Given the description of an element on the screen output the (x, y) to click on. 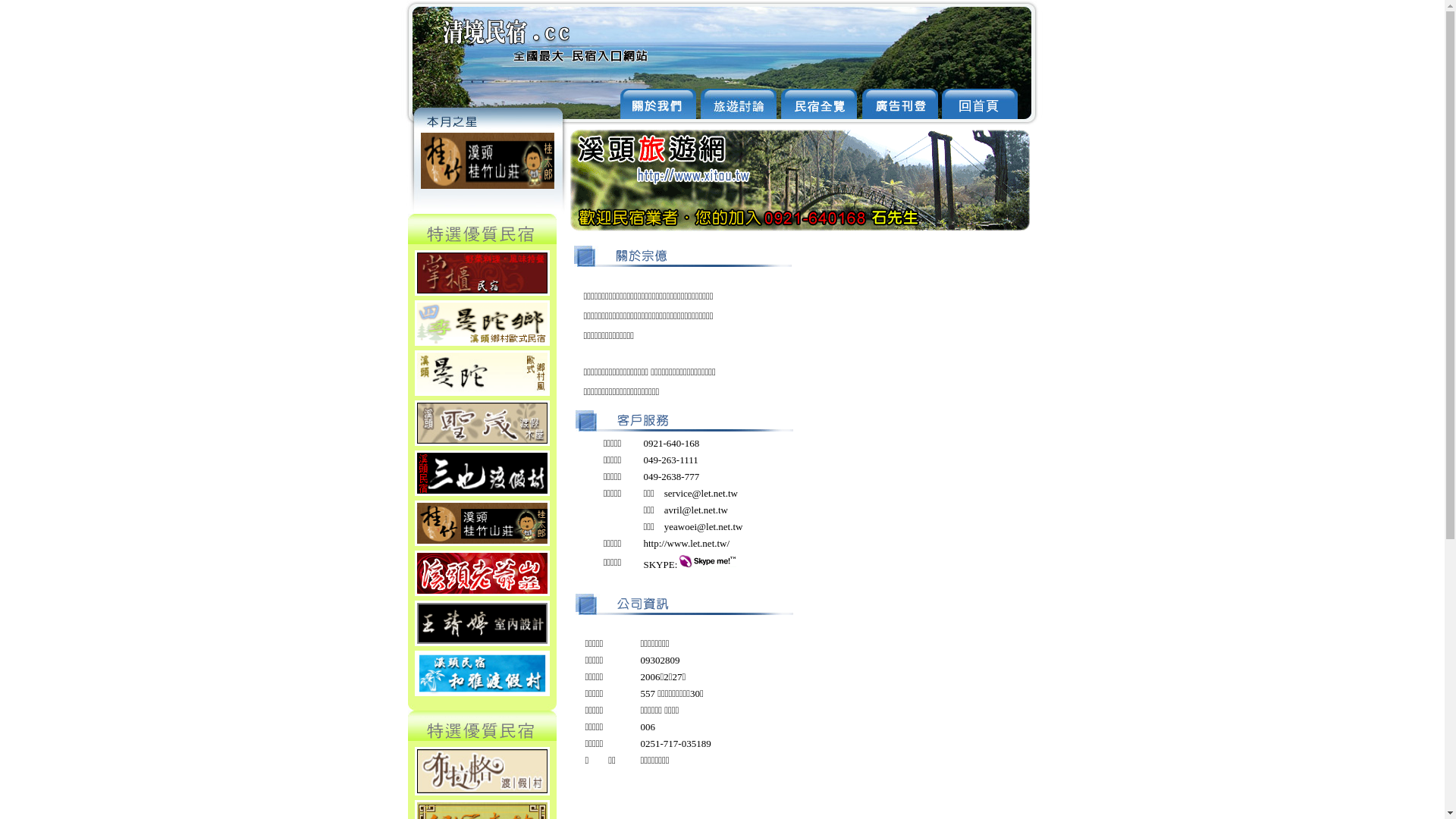
http://www.let.net.tw/ Element type: text (686, 543)
